Given the description of an element on the screen output the (x, y) to click on. 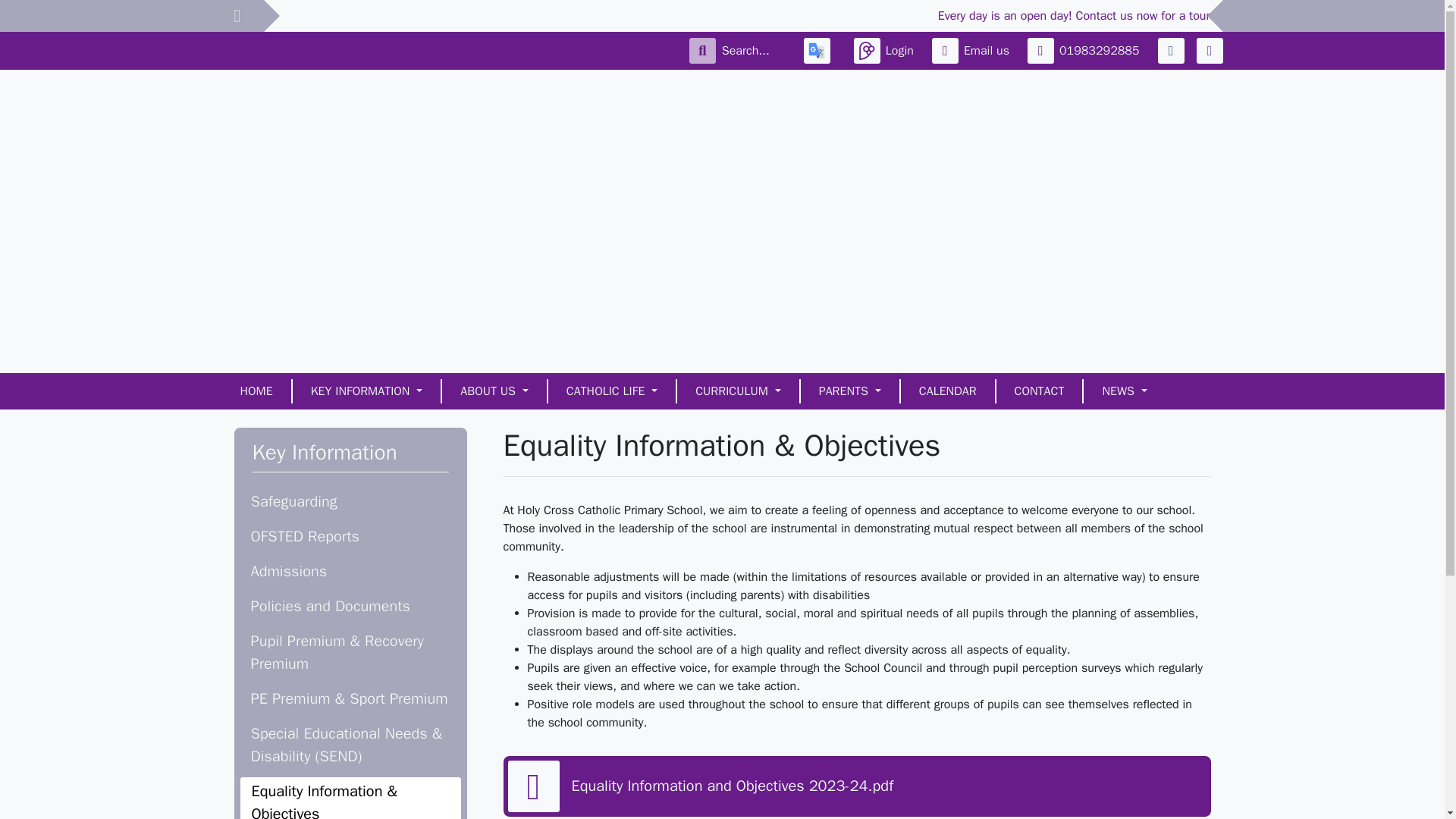
01983292885 (1086, 50)
Login (886, 50)
Email us (972, 50)
